Given the description of an element on the screen output the (x, y) to click on. 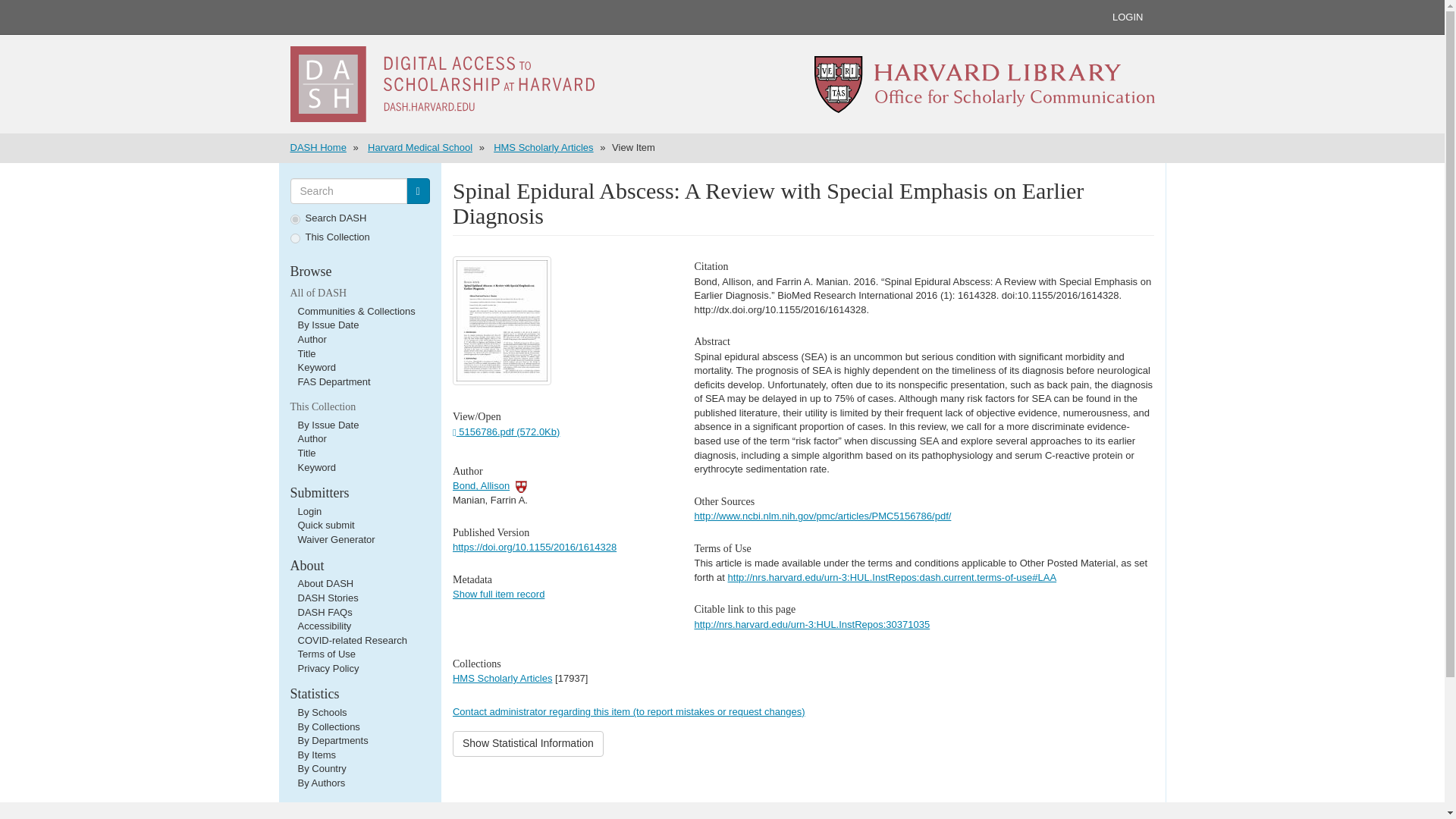
By Issue Date (327, 424)
Keyword (316, 367)
By Issue Date (327, 324)
DASH Home (317, 147)
Go (417, 190)
Keyword (316, 467)
Harvard Medical School (419, 147)
HARVARD AFFILIATED (521, 485)
LOGIN (1127, 17)
Title (306, 353)
FAS Department (333, 381)
Waiver Generator (335, 539)
Author (311, 338)
HMS Scholarly Articles (542, 147)
Login (309, 511)
